Given the description of an element on the screen output the (x, y) to click on. 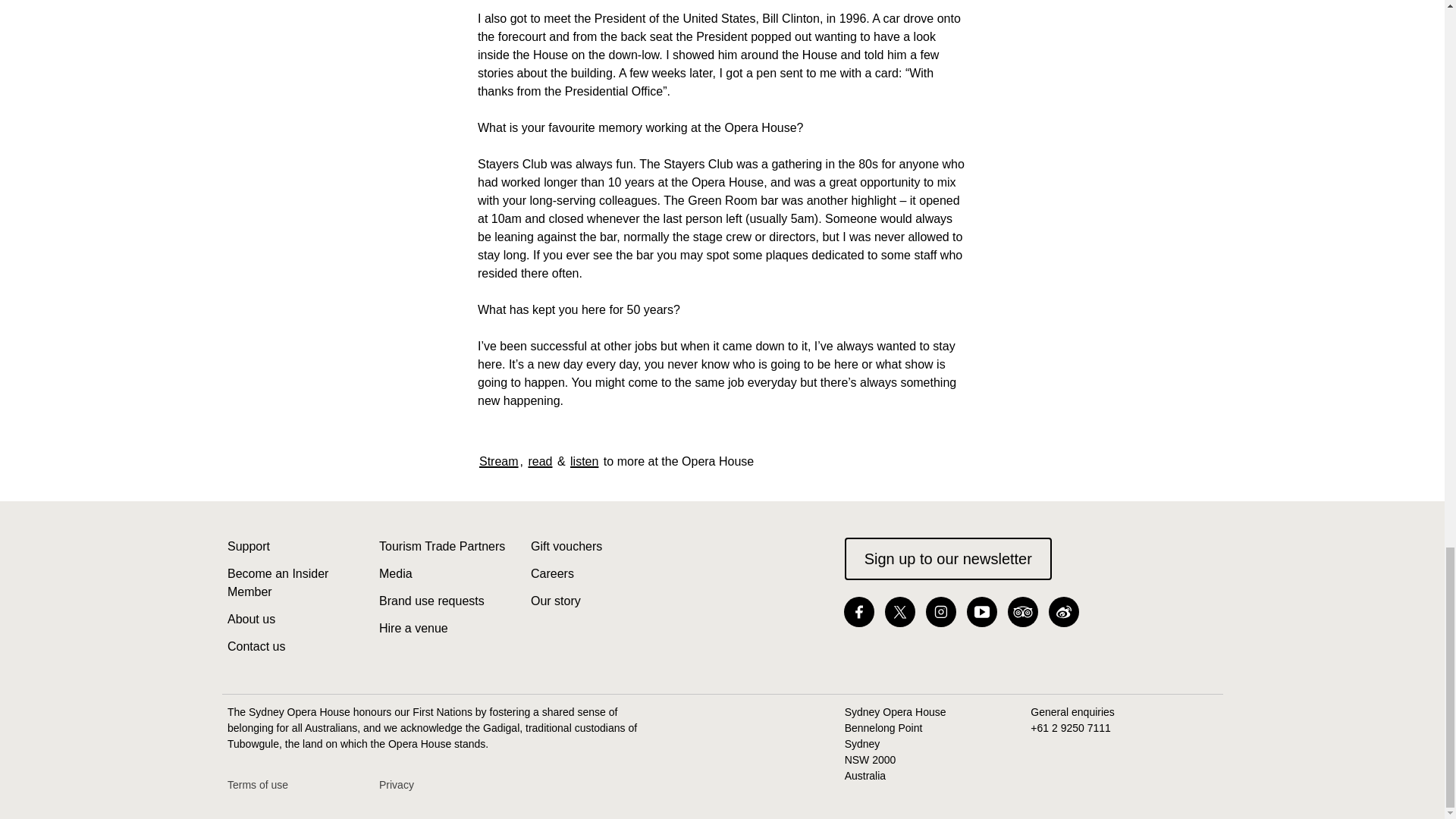
Careers (552, 573)
Our story (555, 600)
